Given the description of an element on the screen output the (x, y) to click on. 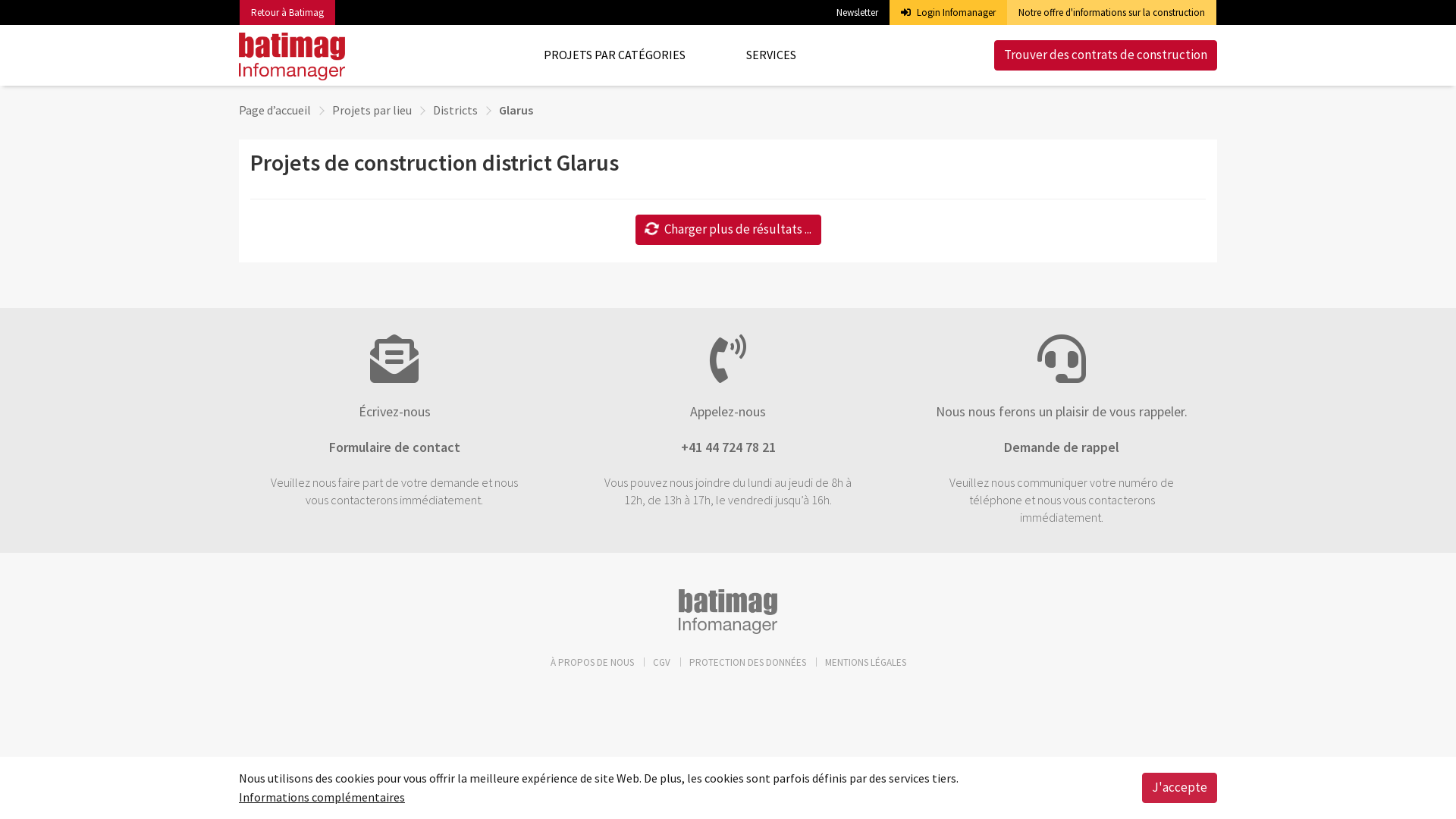
Demande de rappel Element type: text (1061, 446)
Newsletter Element type: text (857, 12)
+41 44 724 78 21 Element type: text (727, 446)
Trouver des contrats de construction Element type: text (1105, 55)
SERVICES Element type: text (771, 54)
Districts Element type: text (455, 109)
Login Infomanager Element type: text (947, 12)
CGV Element type: text (660, 661)
Projets par lieu Element type: text (371, 109)
J'accepte Element type: text (1179, 787)
Formulaire de contact Element type: text (394, 446)
Notre offre d'informations sur la construction Element type: text (1111, 12)
